Given the description of an element on the screen output the (x, y) to click on. 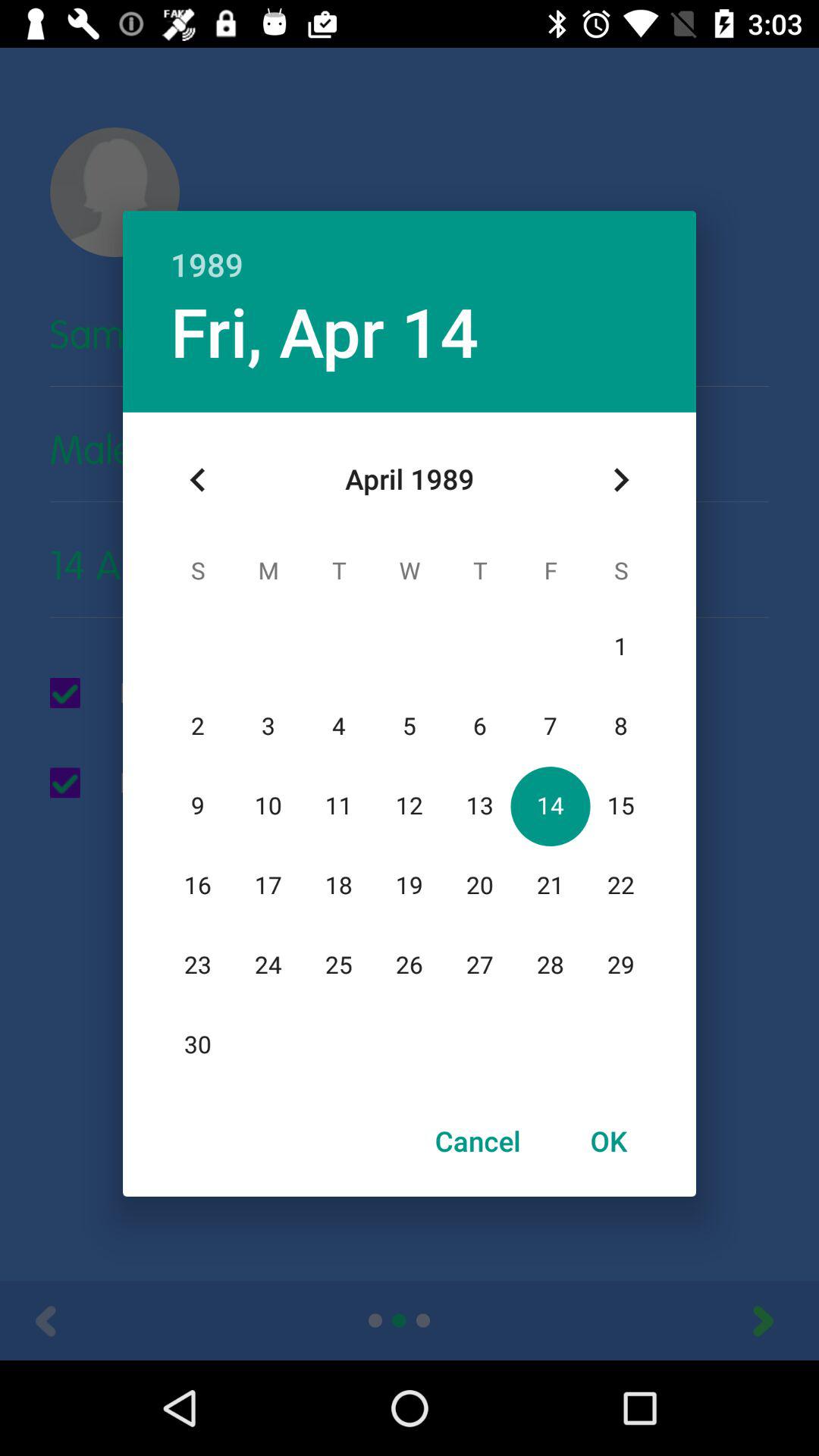
flip to the 1989 item (409, 248)
